Given the description of an element on the screen output the (x, y) to click on. 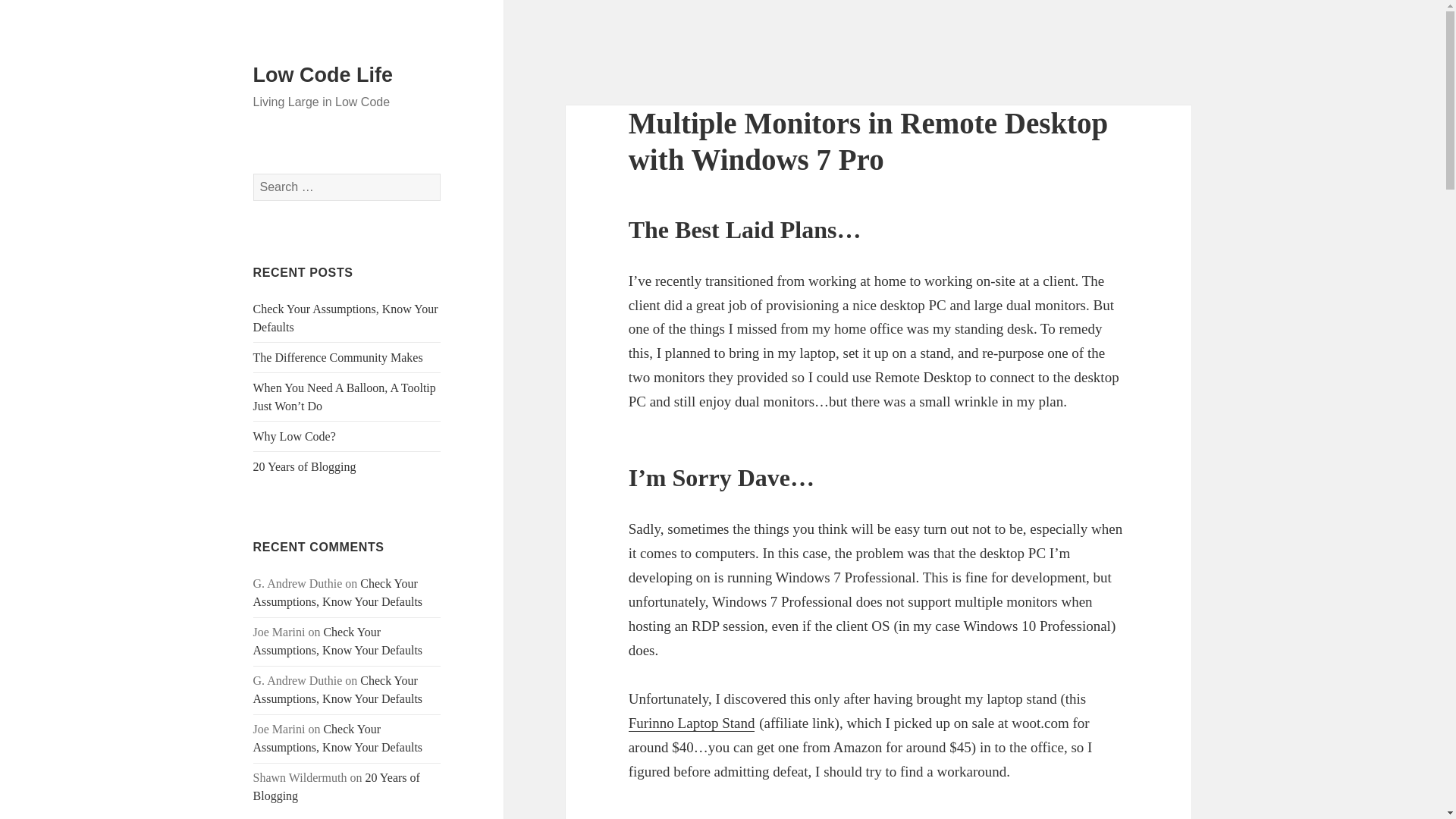
Check Your Assumptions, Know Your Defaults (338, 592)
Check Your Assumptions, Know Your Defaults (338, 689)
Check Your Assumptions, Know Your Defaults (338, 737)
Why Low Code? (294, 436)
Check Your Assumptions, Know Your Defaults (338, 640)
Check Your Assumptions, Know Your Defaults (345, 317)
20 Years of Blogging (304, 466)
Low Code Life (323, 74)
